Given the description of an element on the screen output the (x, y) to click on. 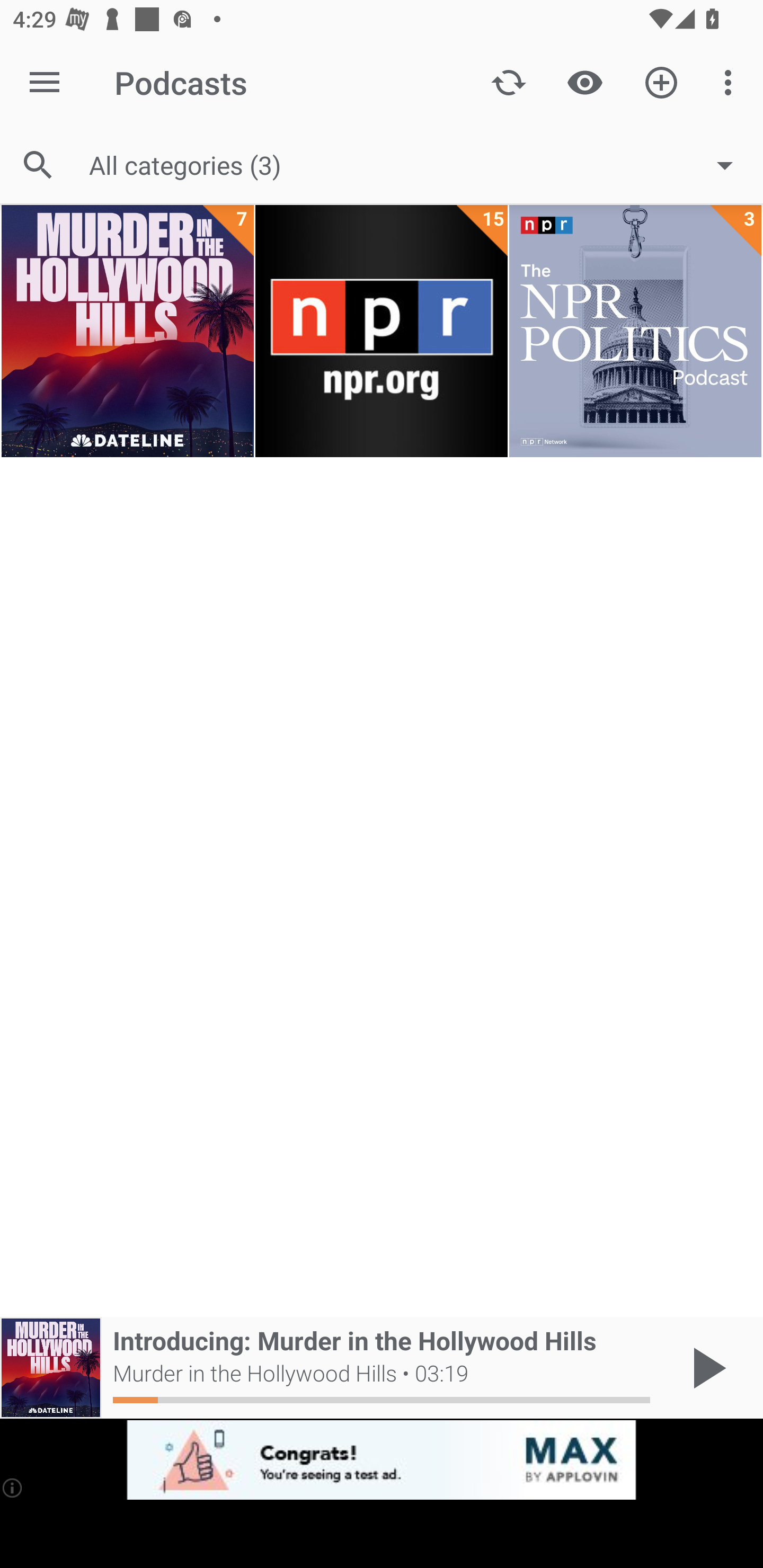
Open navigation sidebar (44, 82)
Update (508, 81)
Show / Hide played content (585, 81)
Add new Podcast (661, 81)
More options (731, 81)
Search (38, 165)
All categories (3) (419, 165)
Murder in the Hollywood Hills 7 (127, 331)
Stories from NPR : NPR 15 (381, 331)
The NPR Politics Podcast 3 (634, 331)
Play / Pause (705, 1367)
app-monetization (381, 1459)
(i) (11, 1487)
